Given the description of an element on the screen output the (x, y) to click on. 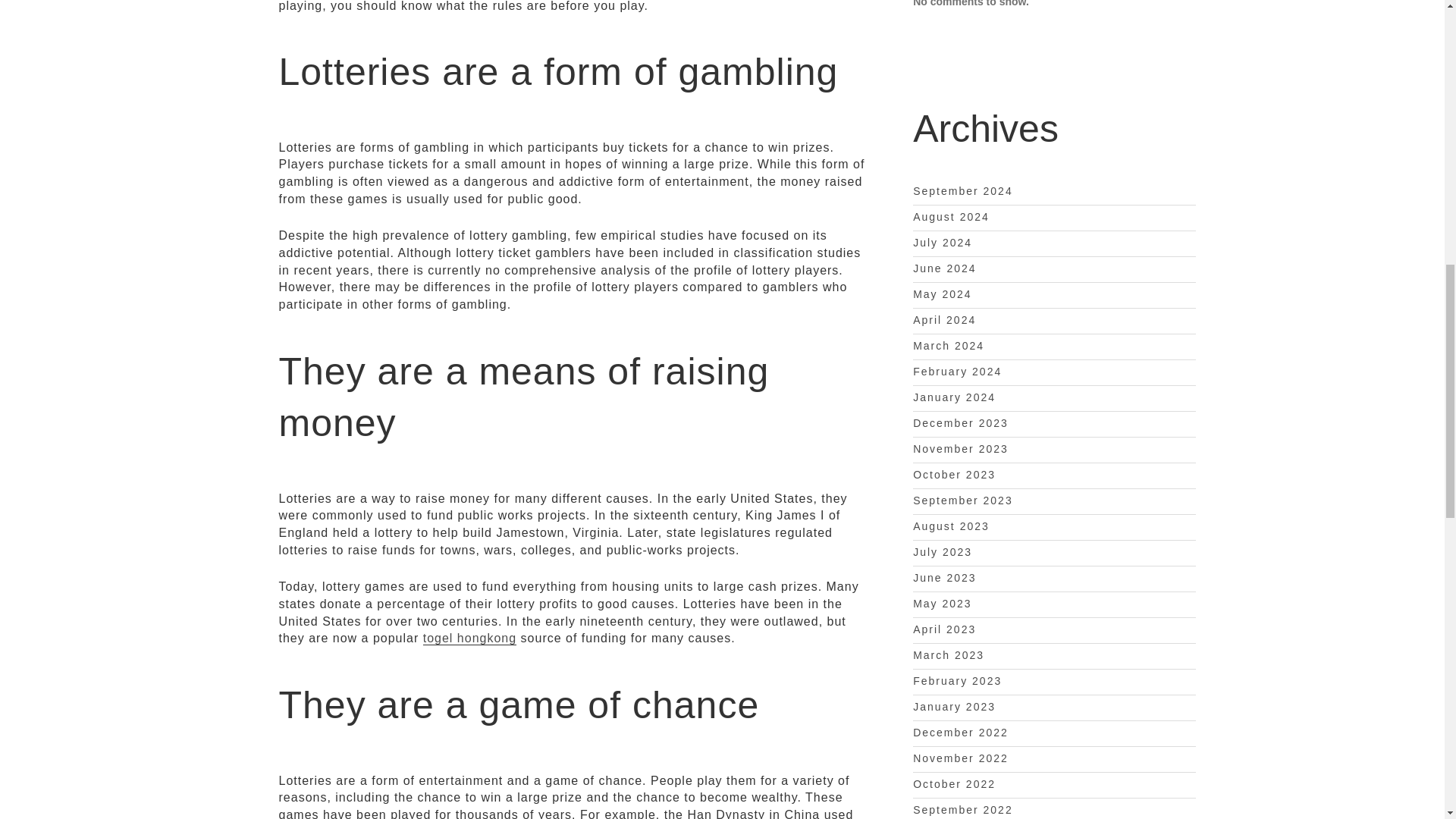
April 2023 (943, 629)
July 2023 (942, 551)
August 2024 (951, 216)
December 2023 (960, 422)
June 2023 (943, 577)
February 2023 (956, 680)
February 2024 (956, 371)
January 2023 (953, 706)
togel hongkong (469, 638)
September 2024 (962, 191)
